Given the description of an element on the screen output the (x, y) to click on. 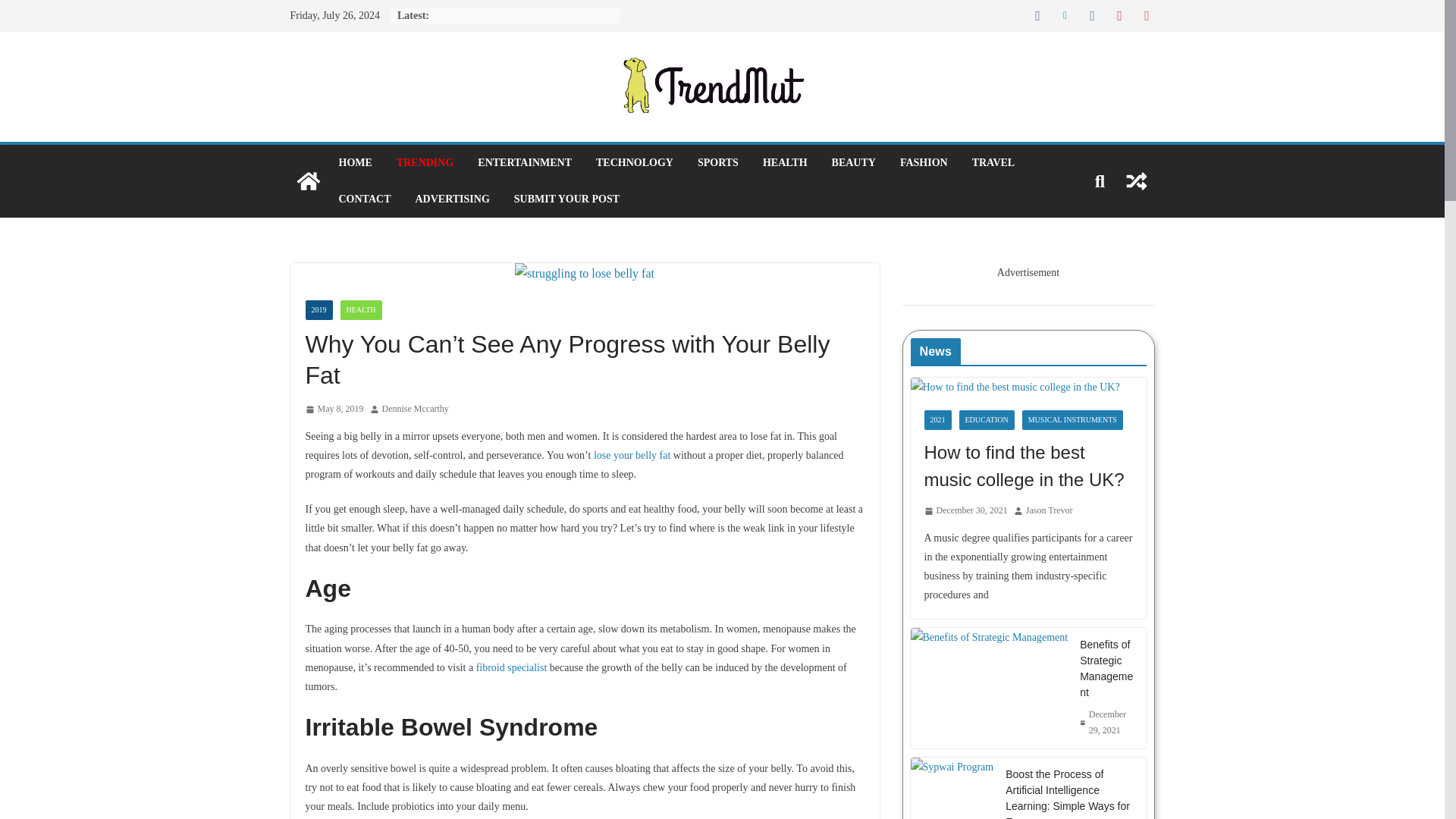
May 8, 2019 (333, 409)
SPORTS (717, 162)
ADVERTISING (451, 199)
lose your belly fat (631, 455)
TRENDING (424, 162)
ENTERTAINMENT (524, 162)
2019 (317, 310)
HEALTH (785, 162)
View a random post (1136, 180)
CONTACT (363, 199)
SUBMIT YOUR POST (566, 199)
HEALTH (360, 310)
Dennise Mccarthy (414, 409)
BEAUTY (853, 162)
fibroid specialist (511, 667)
